Given the description of an element on the screen output the (x, y) to click on. 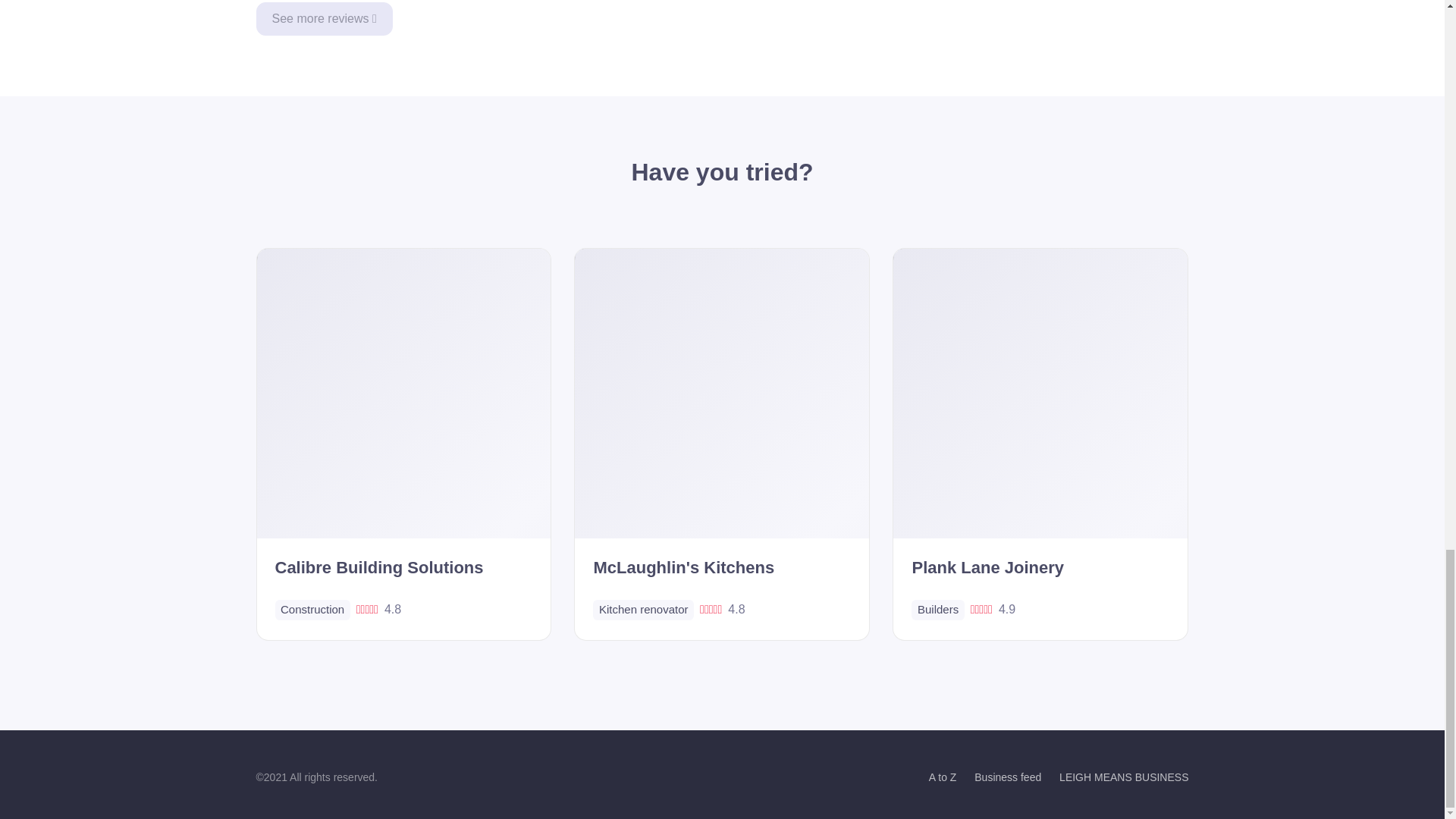
See more reviews (324, 19)
